Given the description of an element on the screen output the (x, y) to click on. 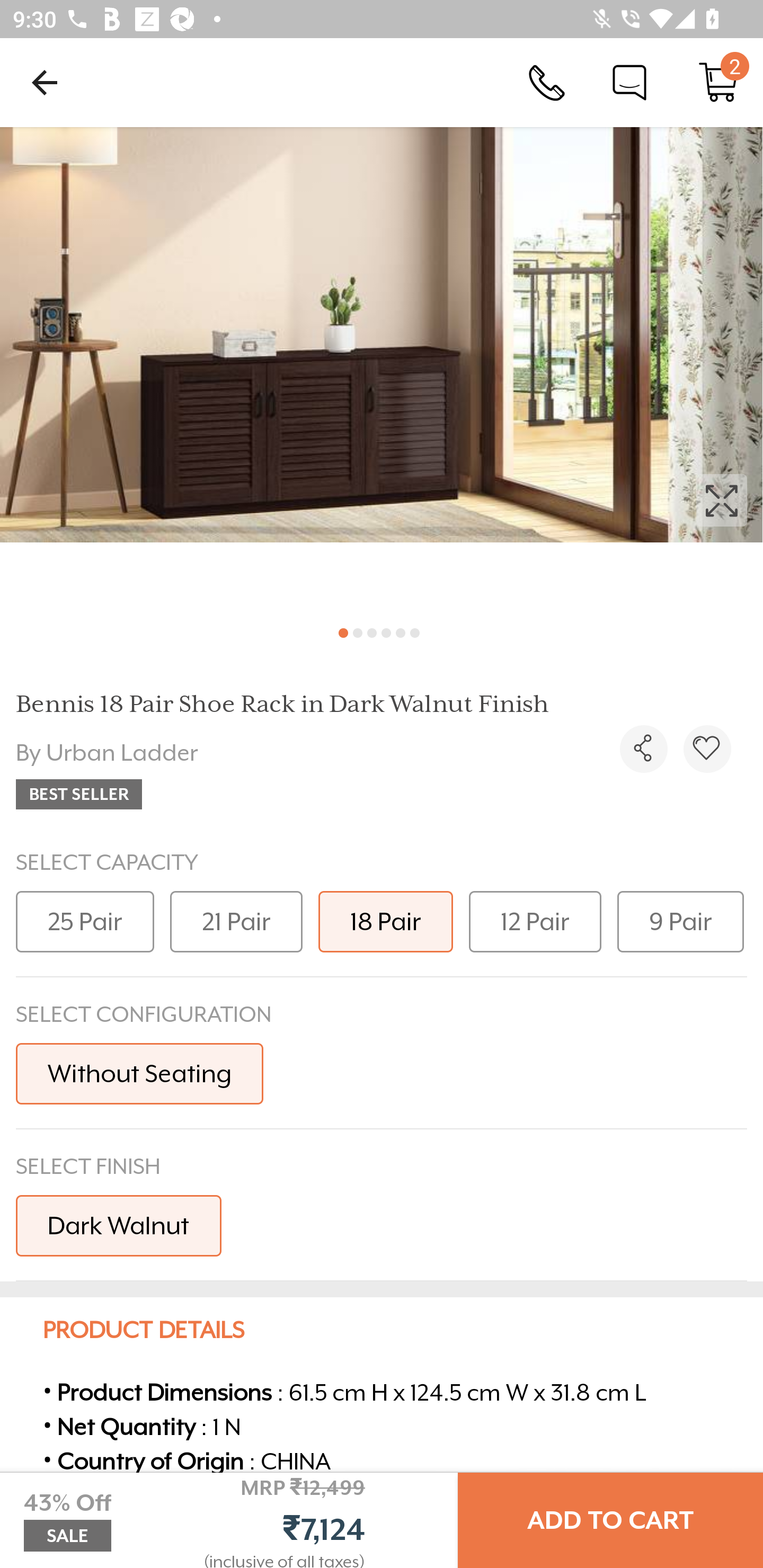
Navigate up (44, 82)
Call Us (546, 81)
Chat (629, 81)
Cart (718, 81)
 (381, 370)
 (643, 748)
 (706, 748)
25 Pair (85, 920)
21 Pair (236, 920)
18 Pair (385, 920)
12 Pair (535, 920)
9 Pair (680, 920)
Without Seating (139, 1072)
Dark Walnut (118, 1224)
ADD TO CART (610, 1520)
